Given the description of an element on the screen output the (x, y) to click on. 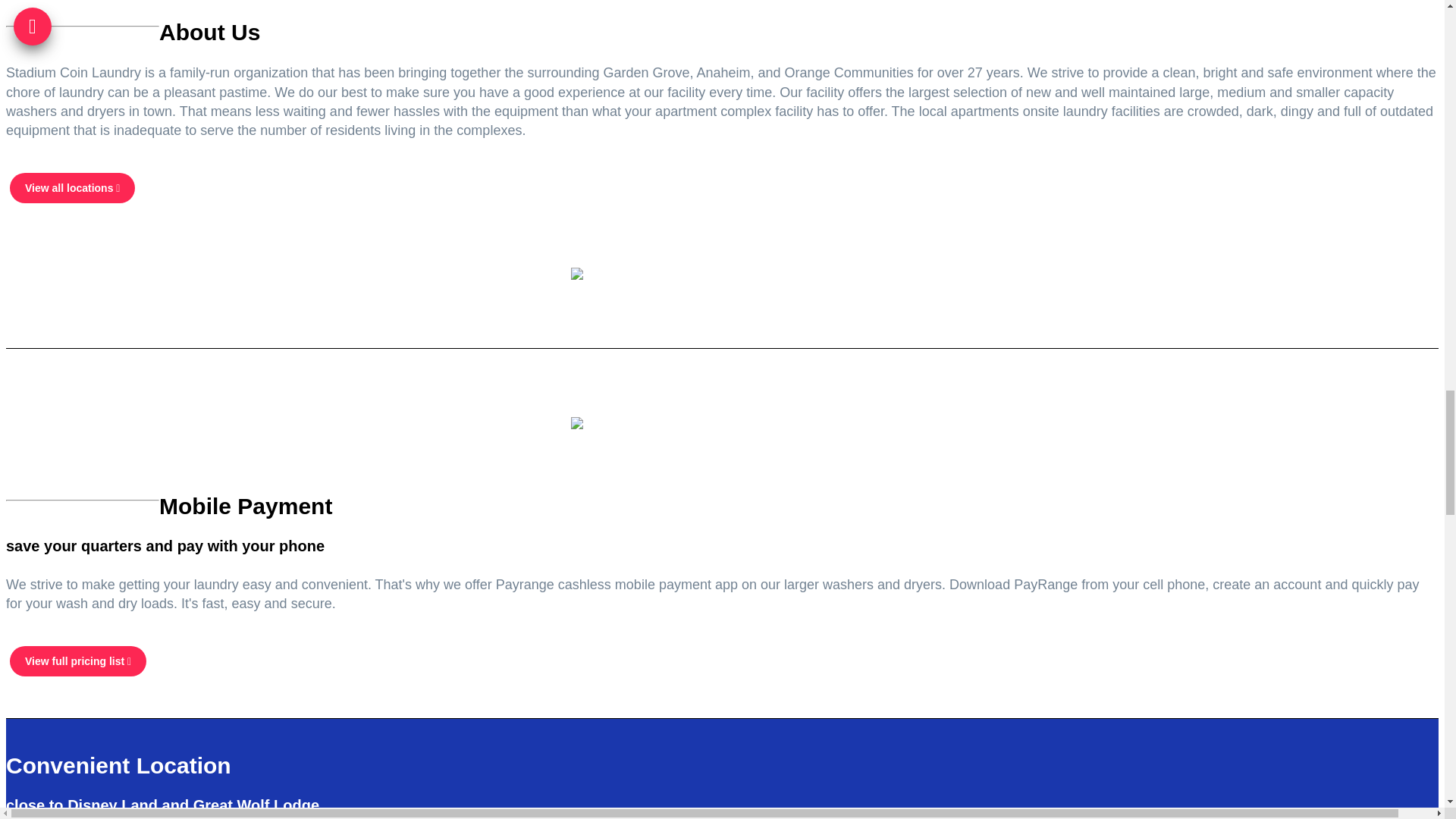
View full pricing list (78, 661)
View all locations (72, 187)
